Given the description of an element on the screen output the (x, y) to click on. 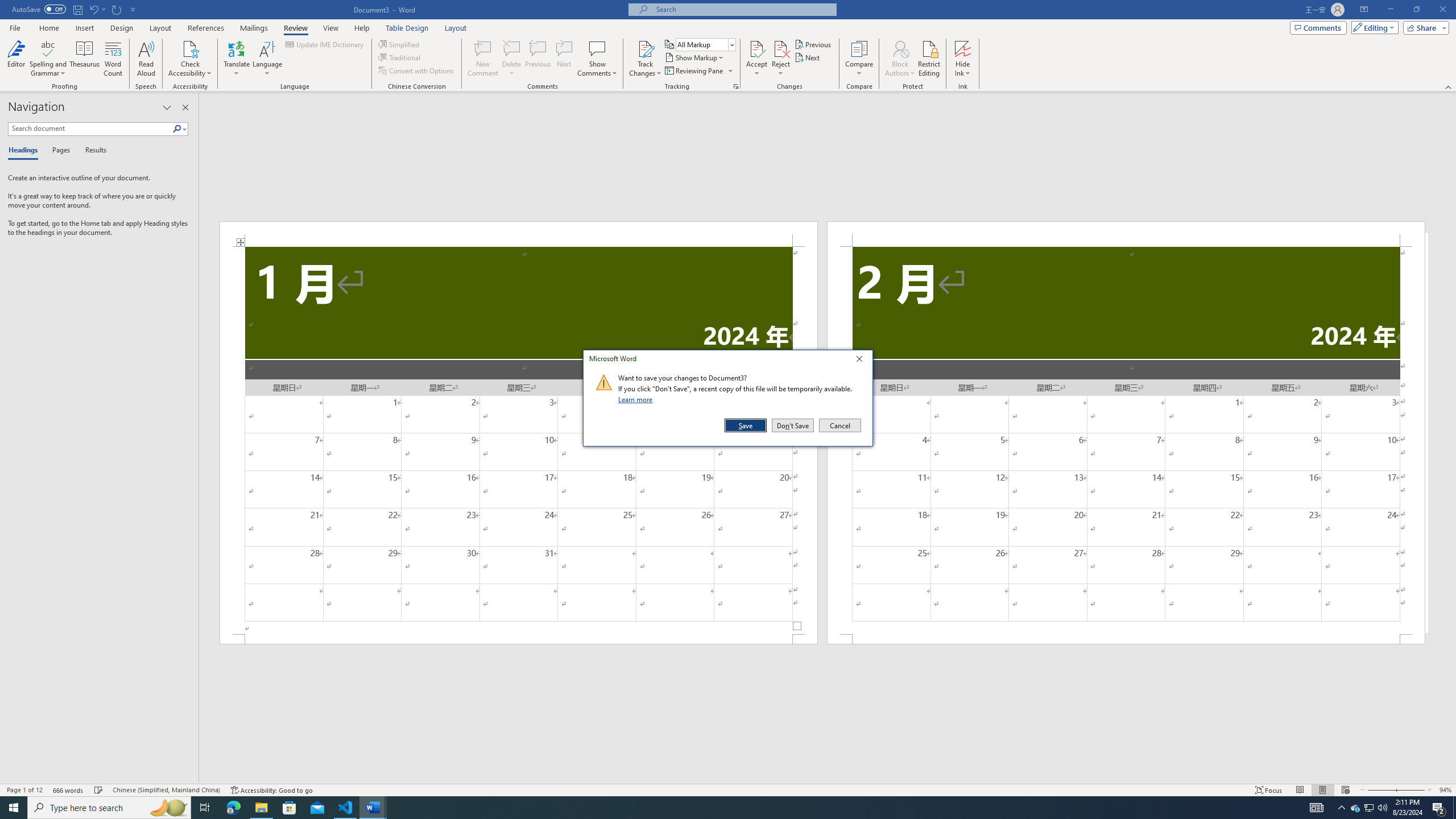
Thesaurus... (84, 58)
Page Number Page 1 of 12 (24, 790)
Reject and Move to Next (780, 48)
Compare (859, 58)
Track Changes (644, 58)
